Given the description of an element on the screen output the (x, y) to click on. 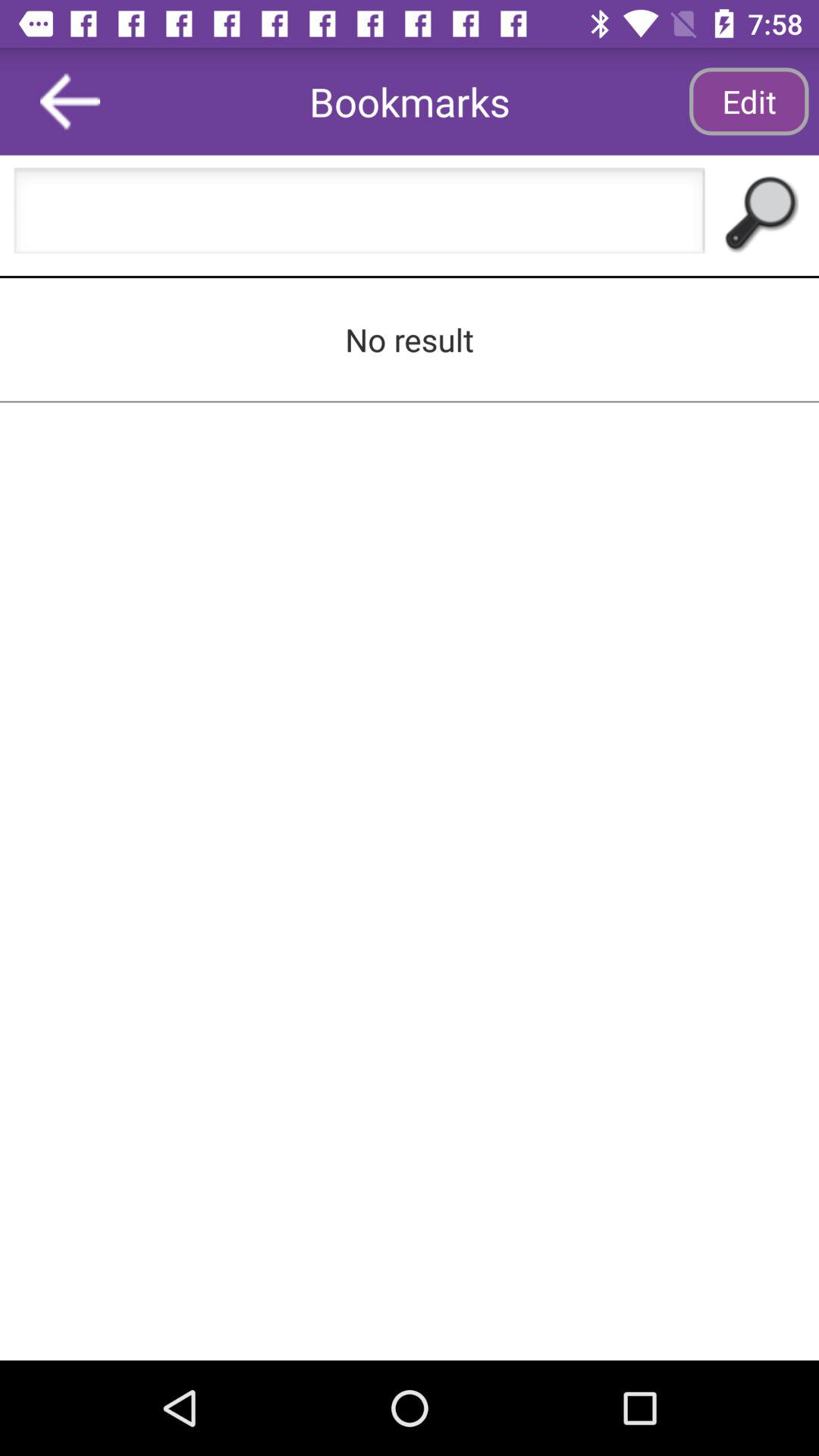
select no result icon (409, 339)
